Given the description of an element on the screen output the (x, y) to click on. 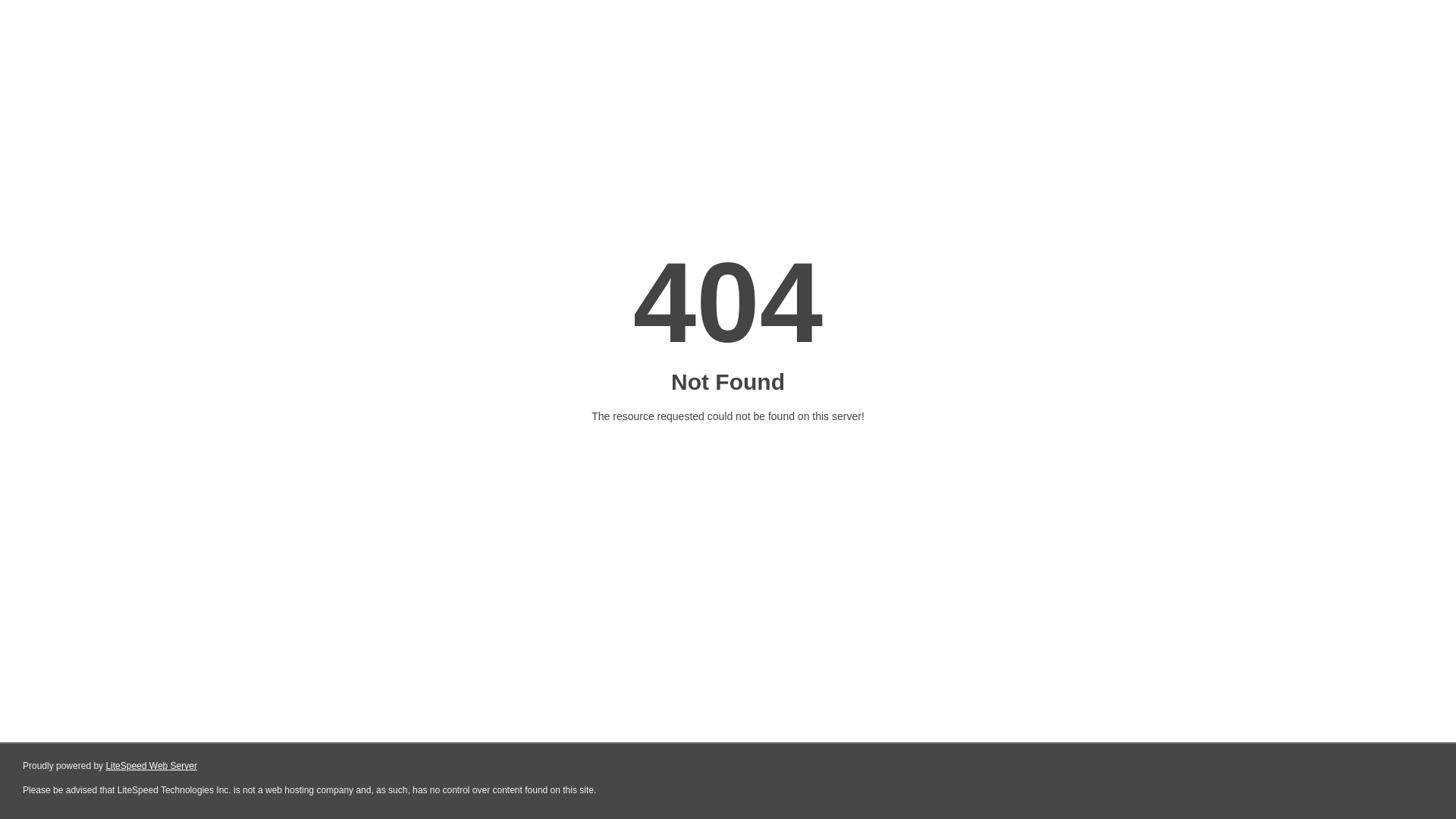
LiteSpeed Web Server Element type: text (151, 765)
